Given the description of an element on the screen output the (x, y) to click on. 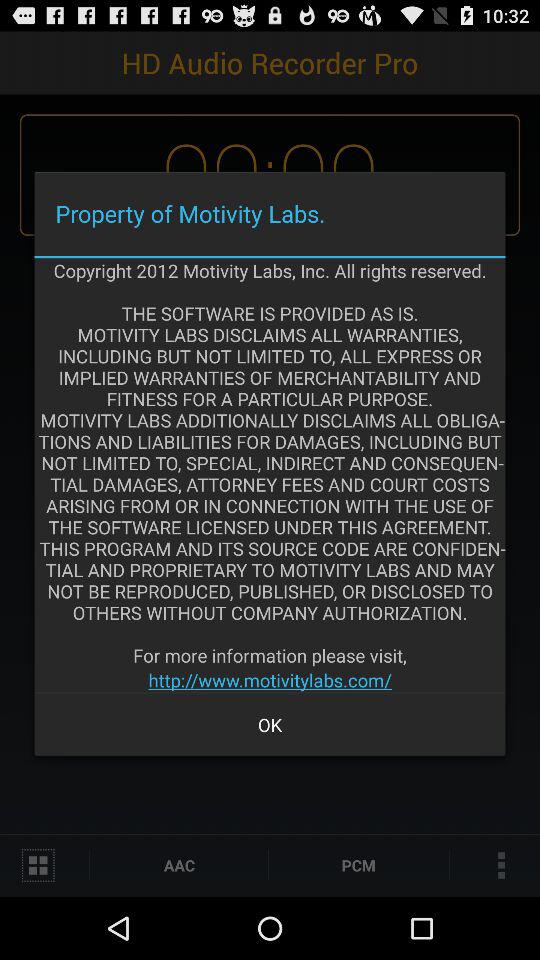
turn off the ok item (269, 724)
